Given the description of an element on the screen output the (x, y) to click on. 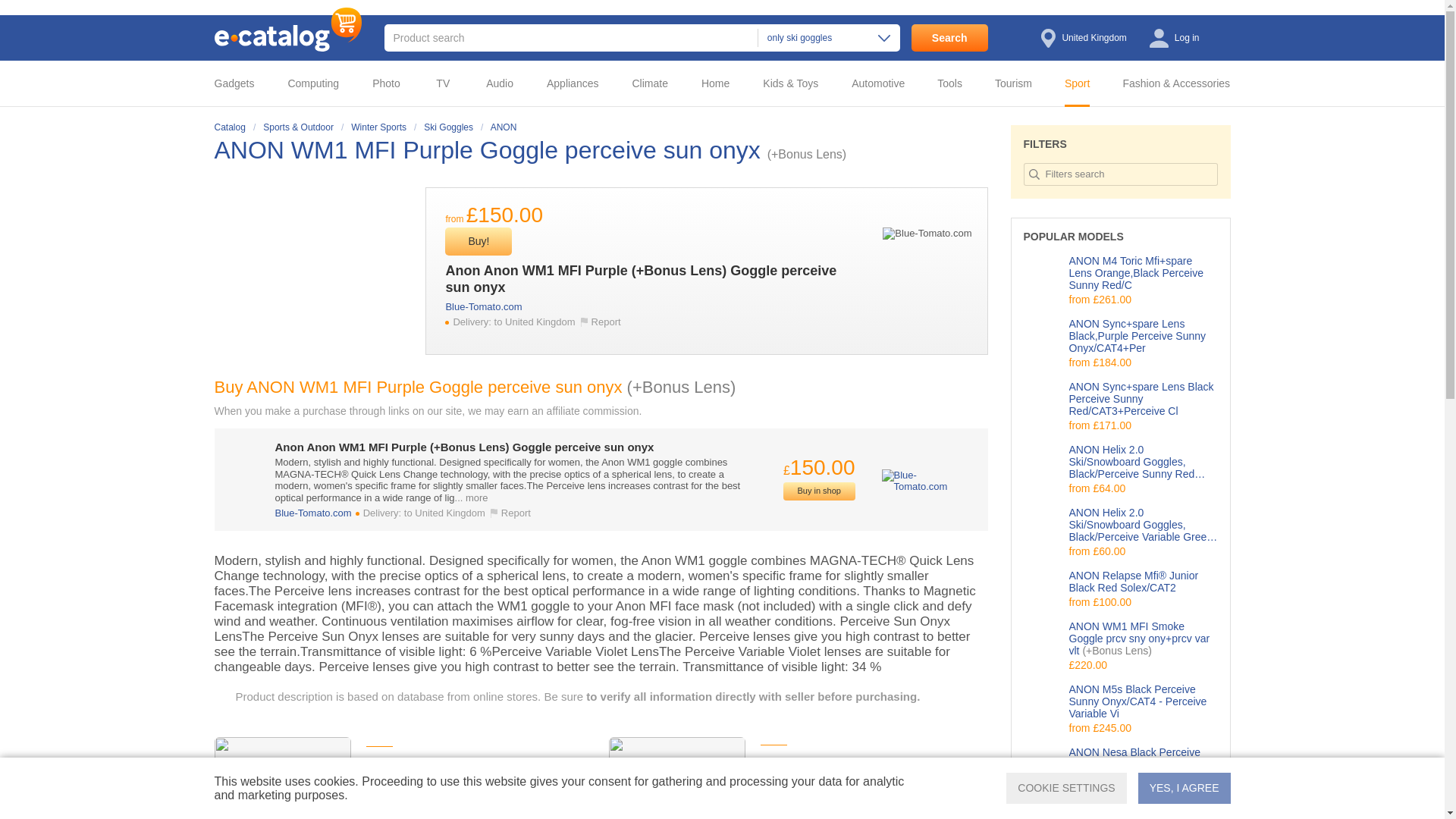
E-Catalog (287, 29)
Computing (318, 83)
Photo (391, 83)
Search (949, 37)
 TV  (448, 83)
Gadgets (245, 83)
Share Page (972, 150)
